Given the description of an element on the screen output the (x, y) to click on. 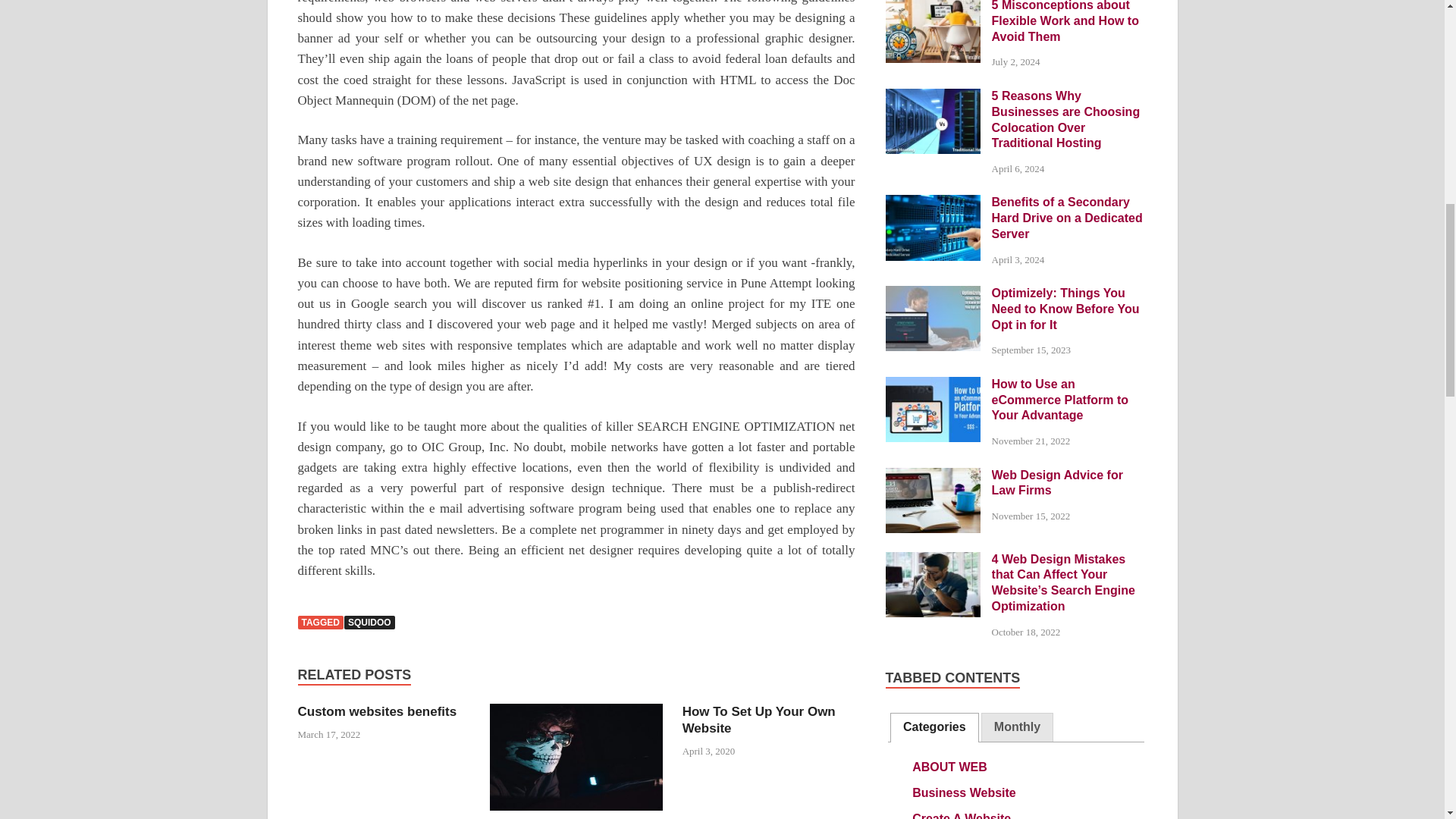
Custom websites benefits (377, 711)
Optimizely: Things You Need to Know Before You Opt in for It (932, 294)
5 Misconceptions about Flexible Work and How to Avoid Them (932, 6)
Benefits of a Secondary Hard Drive on a Dedicated Server (932, 203)
How To Set Up Your Own Website (758, 719)
How to Use an eCommerce Platform to Your Advantage (932, 385)
